Given the description of an element on the screen output the (x, y) to click on. 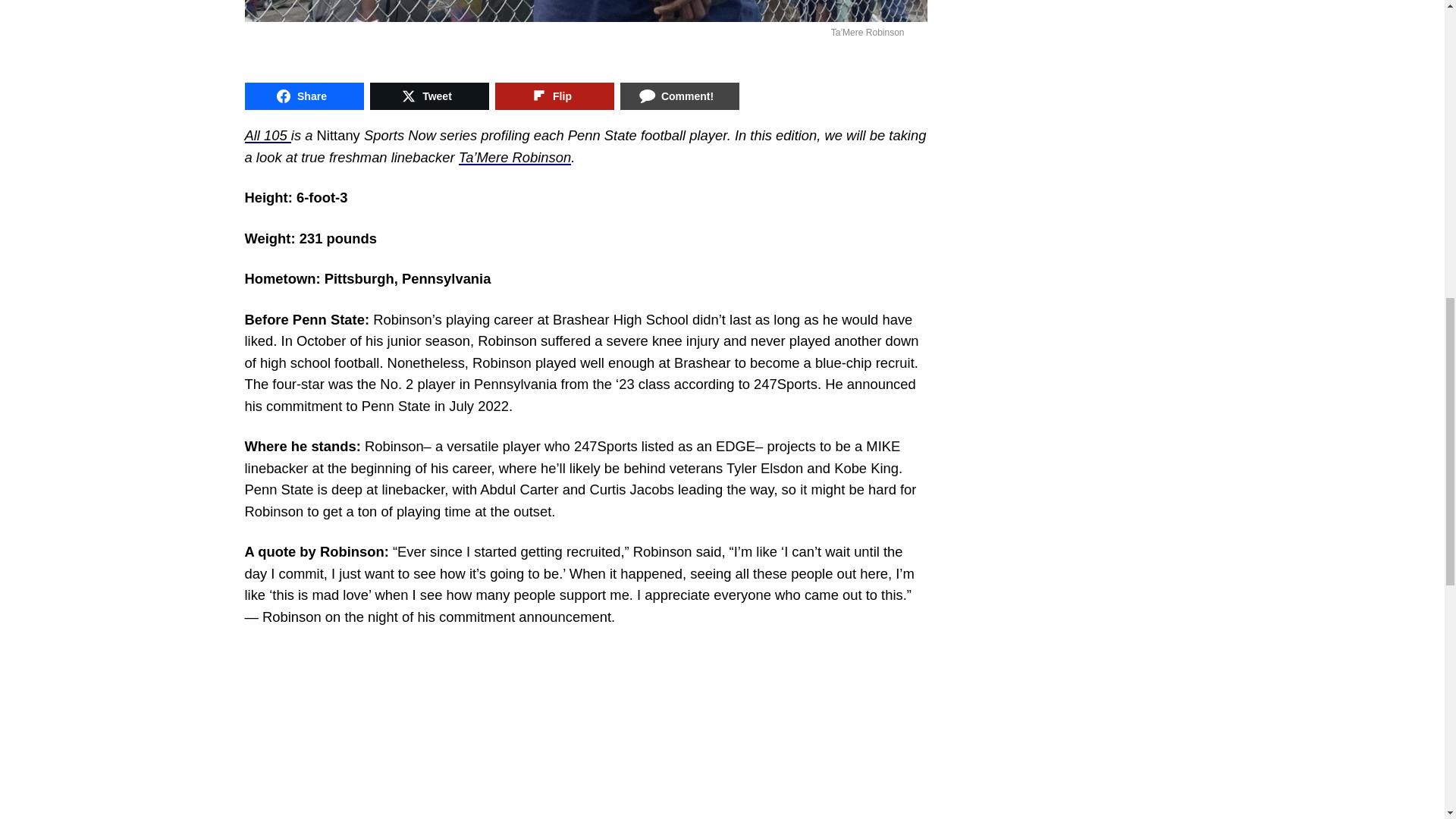
Share on Comment! (679, 95)
Share on Tweet (429, 95)
Share on Share (303, 95)
Share on Flip (553, 95)
